Given the description of an element on the screen output the (x, y) to click on. 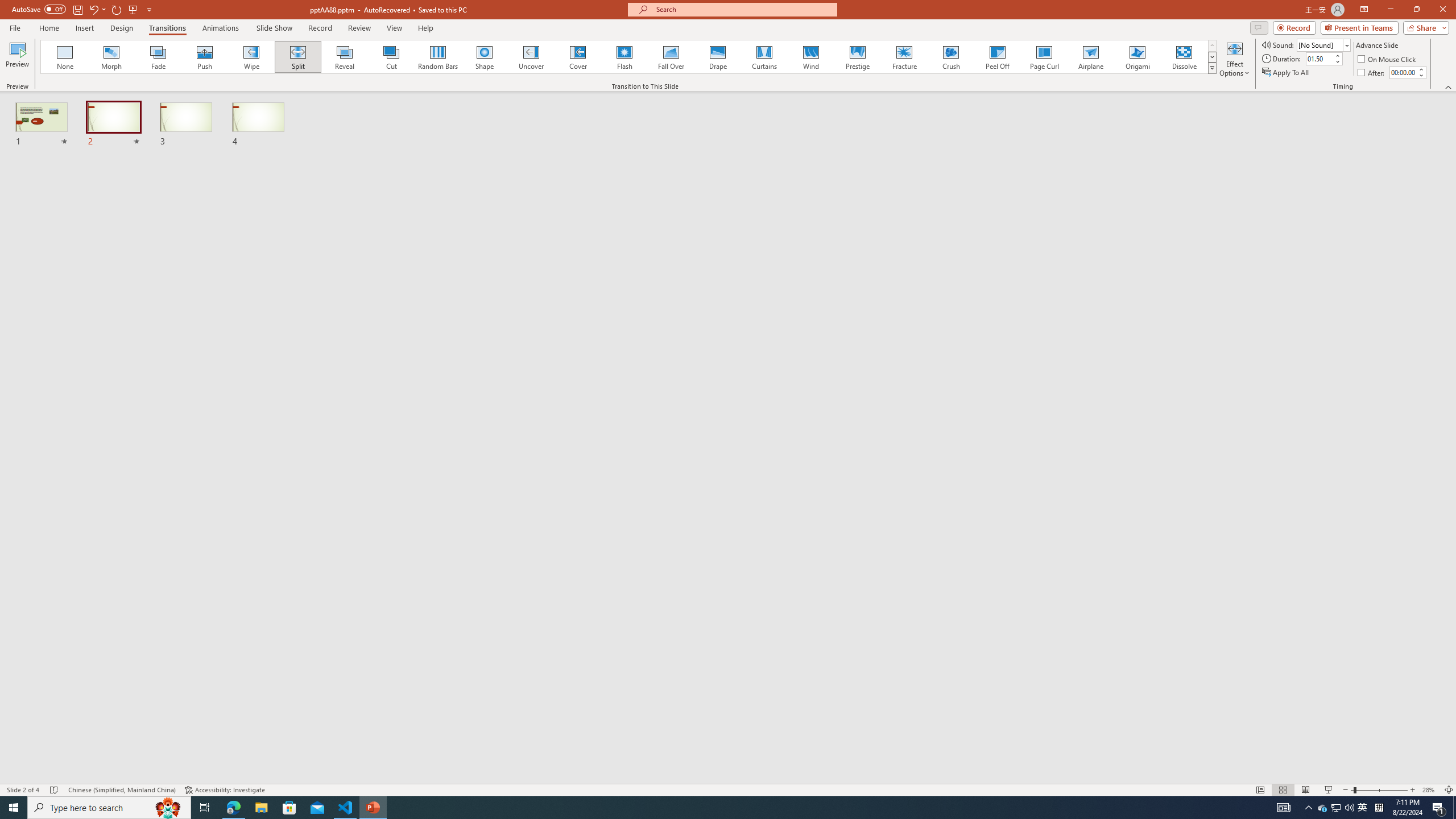
Origami (1136, 56)
Cover (577, 56)
Airplane (1090, 56)
Effect Options (1234, 58)
Dissolve (1183, 56)
Wipe (251, 56)
